Given the description of an element on the screen output the (x, y) to click on. 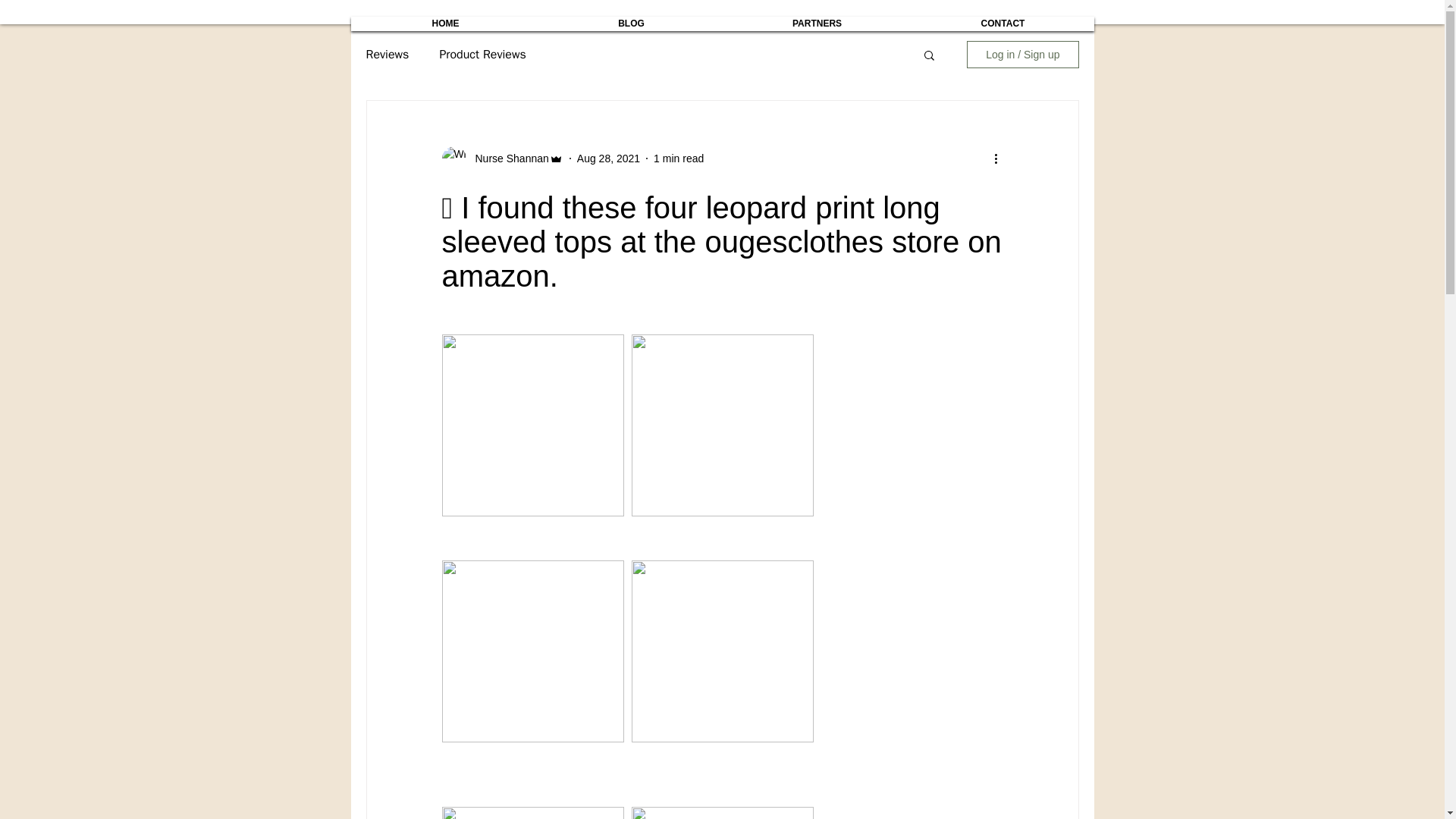
Reviews (387, 54)
HOME (446, 23)
1 min read (678, 157)
Aug 28, 2021 (608, 157)
PARTNERS (817, 23)
Product Reviews (482, 54)
BLOG (631, 23)
Nurse Shannan (506, 157)
CONTACT (1002, 23)
